Given the description of an element on the screen output the (x, y) to click on. 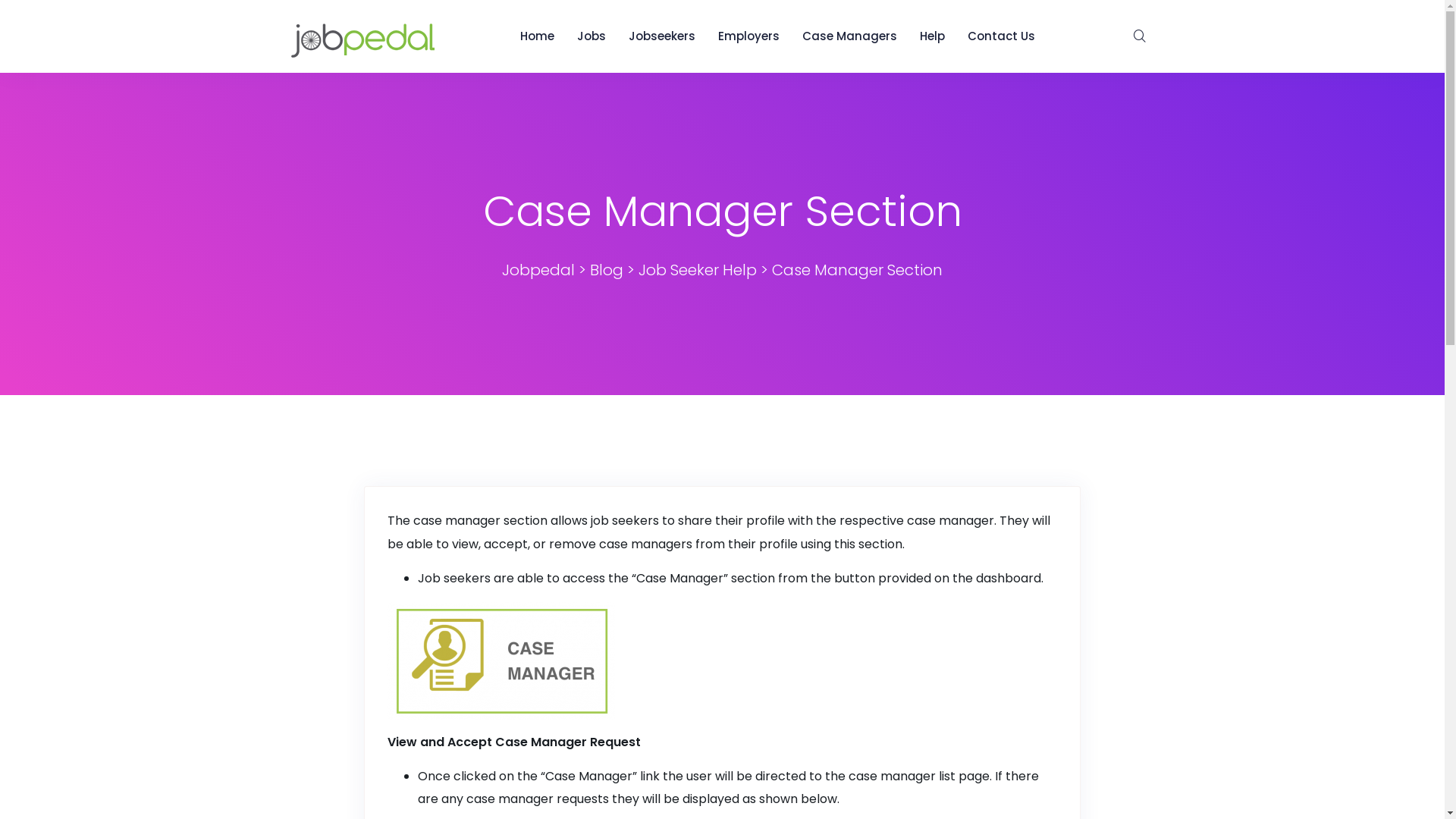
Home Element type: text (536, 36)
Case Managers Element type: text (849, 36)
Contact Us Element type: text (1001, 36)
Jobseekers Element type: text (661, 36)
Employers Element type: text (748, 36)
Help Element type: text (932, 36)
Jobs Element type: text (591, 36)
Blog Element type: text (606, 269)
Jobpedal Element type: text (538, 269)
Job Seeker Help Element type: text (697, 269)
